Given the description of an element on the screen output the (x, y) to click on. 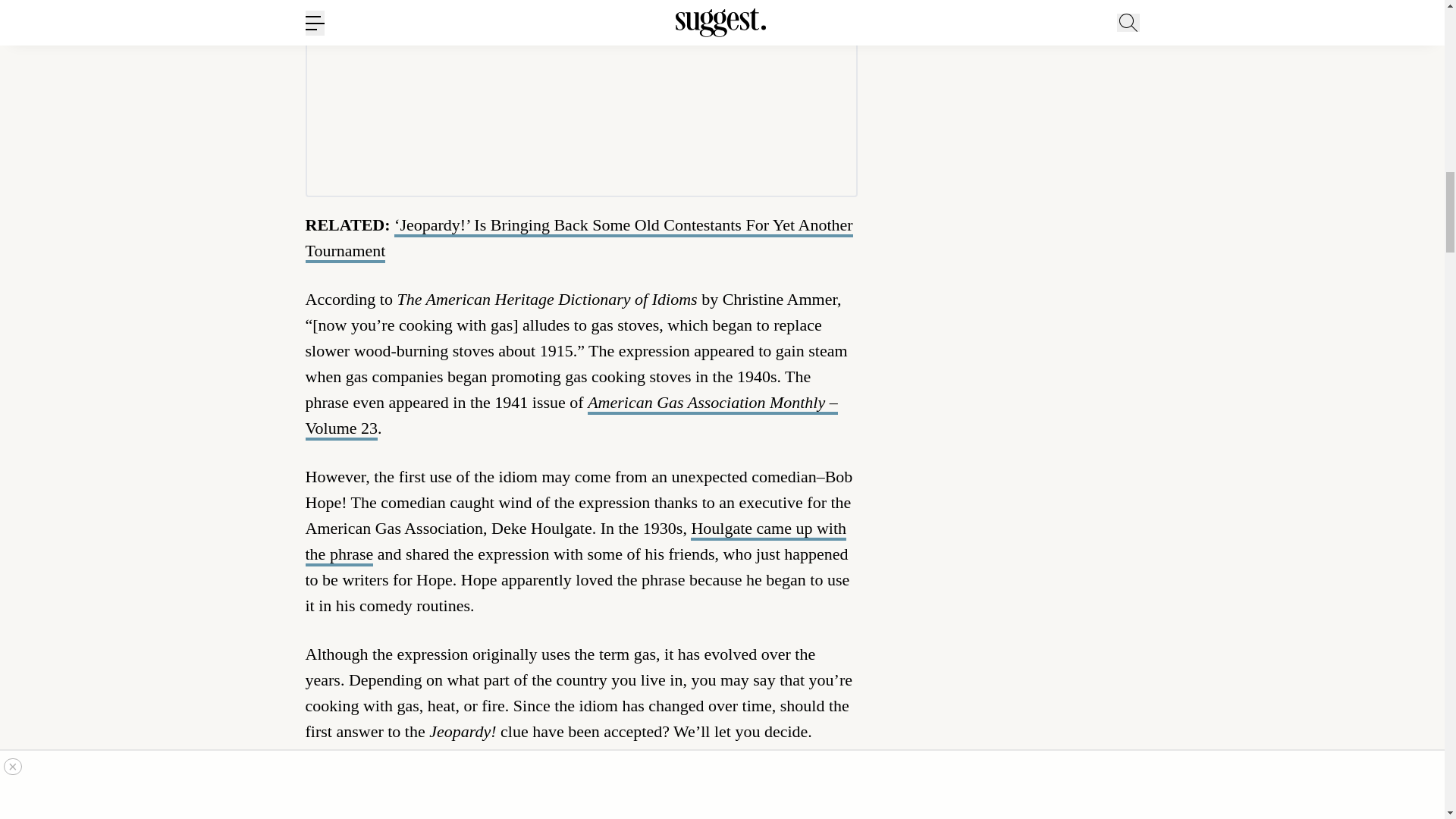
Houlgate came up with the phrase (574, 542)
